Given the description of an element on the screen output the (x, y) to click on. 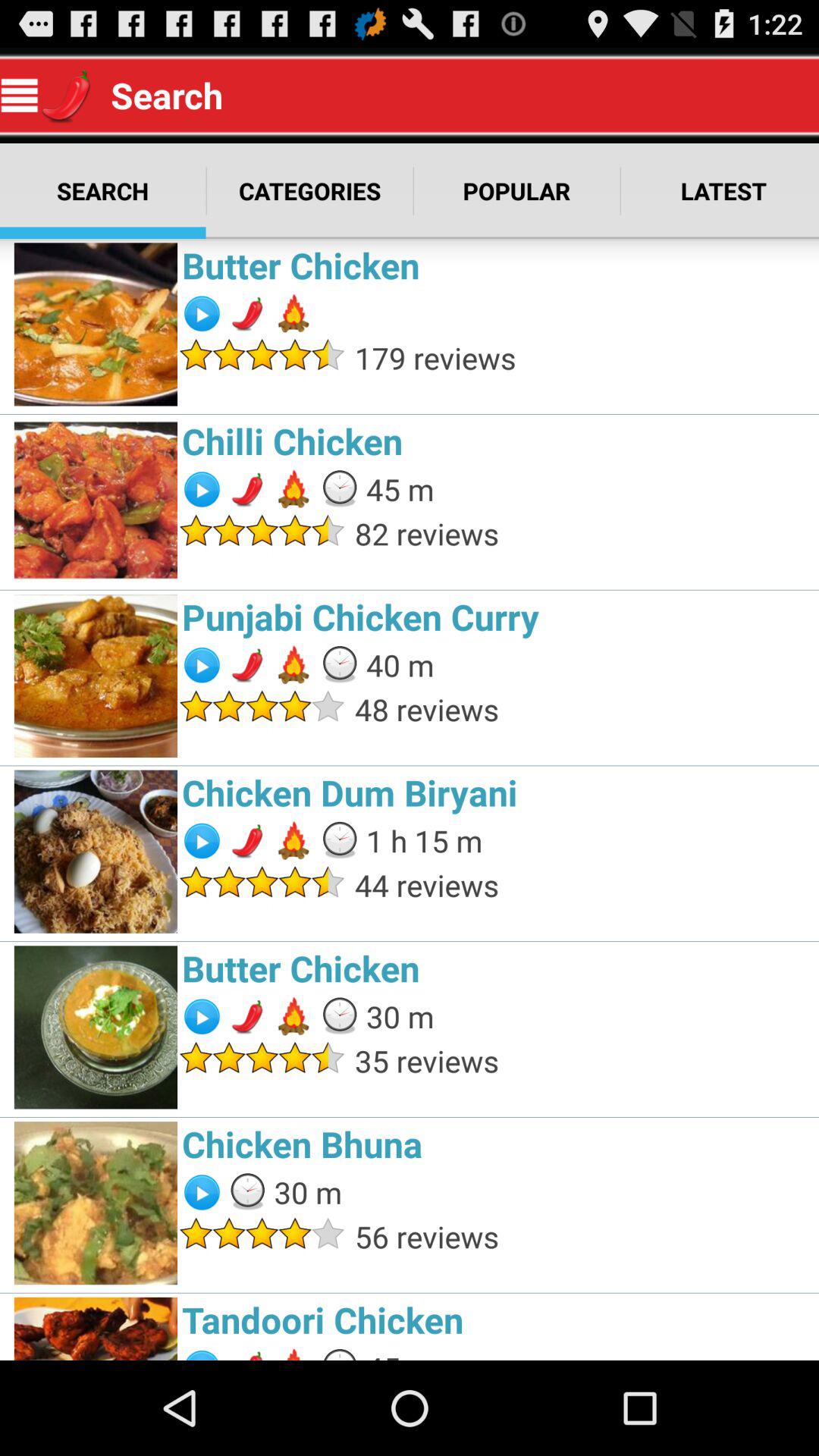
flip to the 44 reviews icon (582, 885)
